Given the description of an element on the screen output the (x, y) to click on. 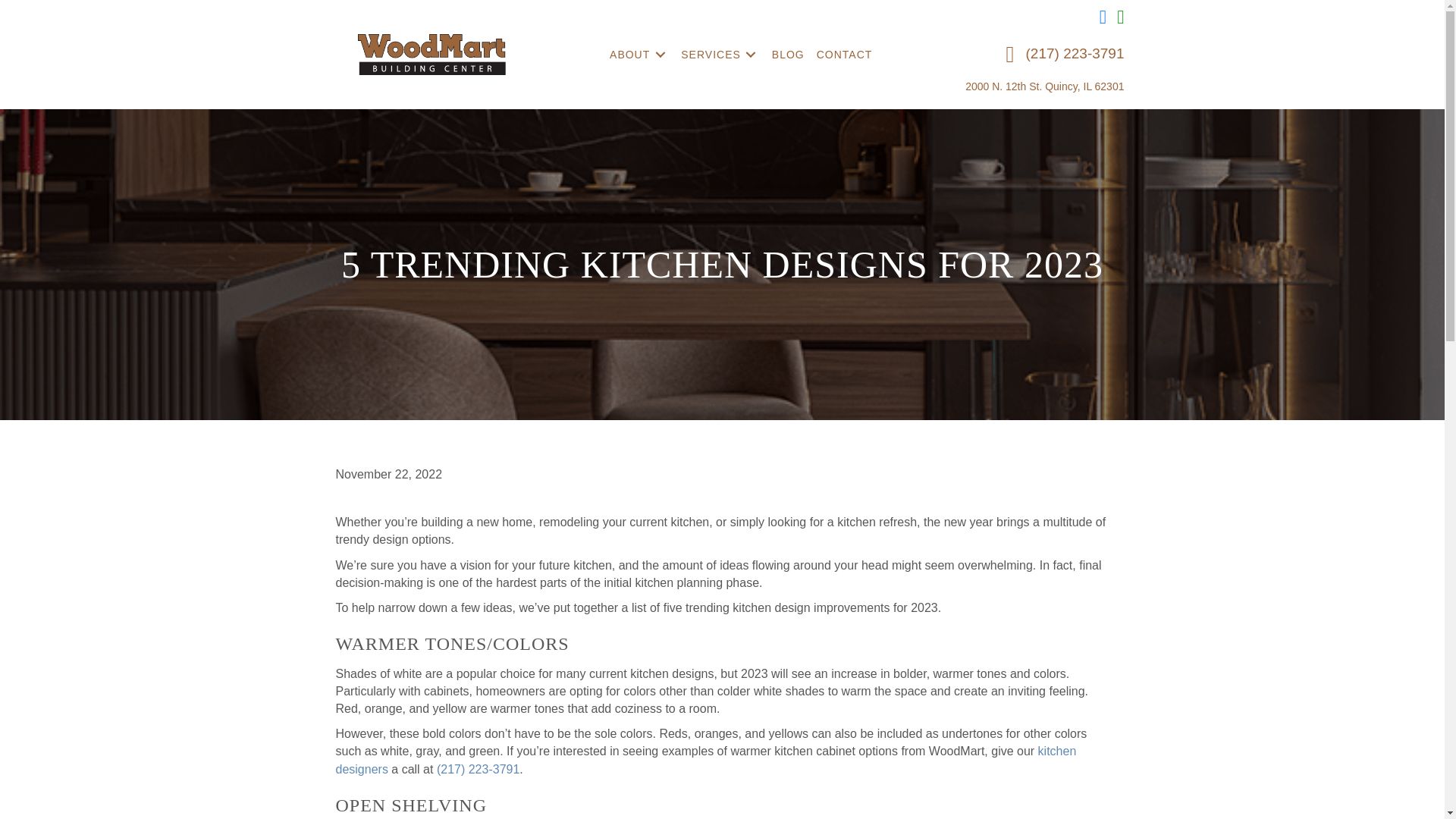
SERVICES (722, 54)
Woodmart Building Center Logo (431, 54)
CONTACT (846, 54)
ABOUT (641, 54)
Call WoodMart (477, 768)
kitchen designers (704, 759)
